Given the description of an element on the screen output the (x, y) to click on. 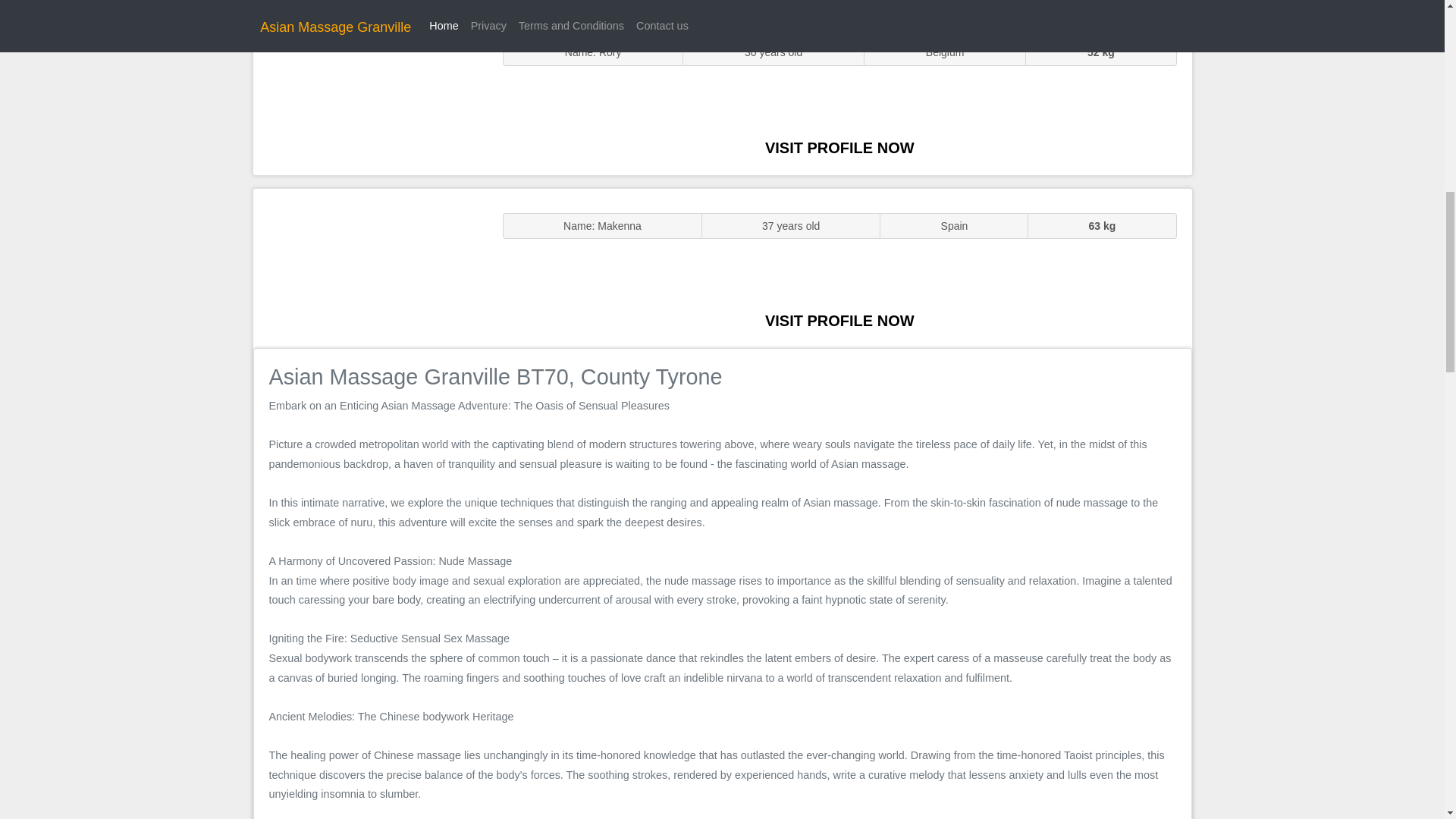
Massage (370, 267)
VISIT PROFILE NOW (839, 147)
Sluts (370, 94)
VISIT PROFILE NOW (839, 320)
